Given the description of an element on the screen output the (x, y) to click on. 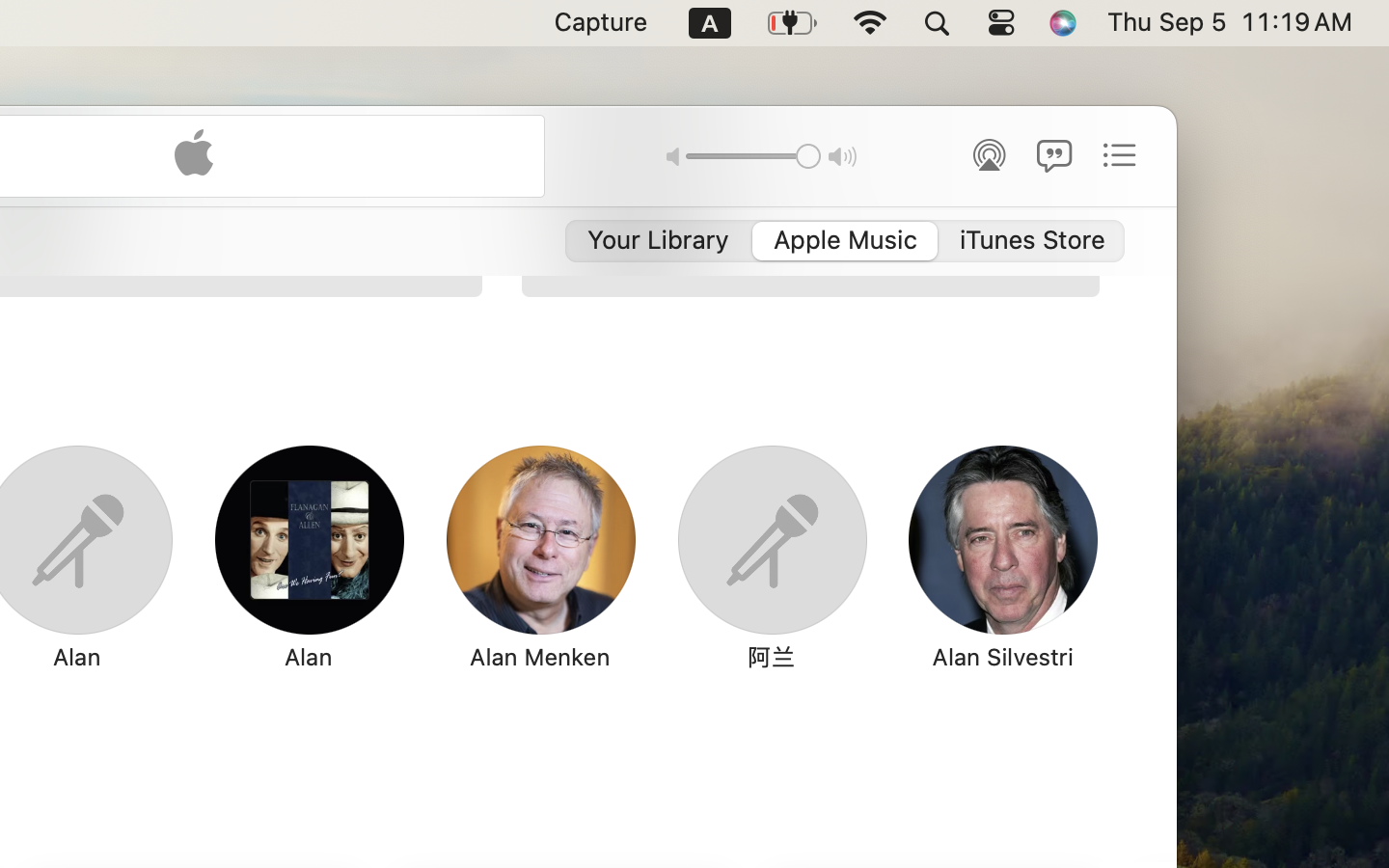
Alan Tam Element type: AXStaticText (812, 164)
Alan Lomax Element type: AXStaticText (1234, 656)
